Given the description of an element on the screen output the (x, y) to click on. 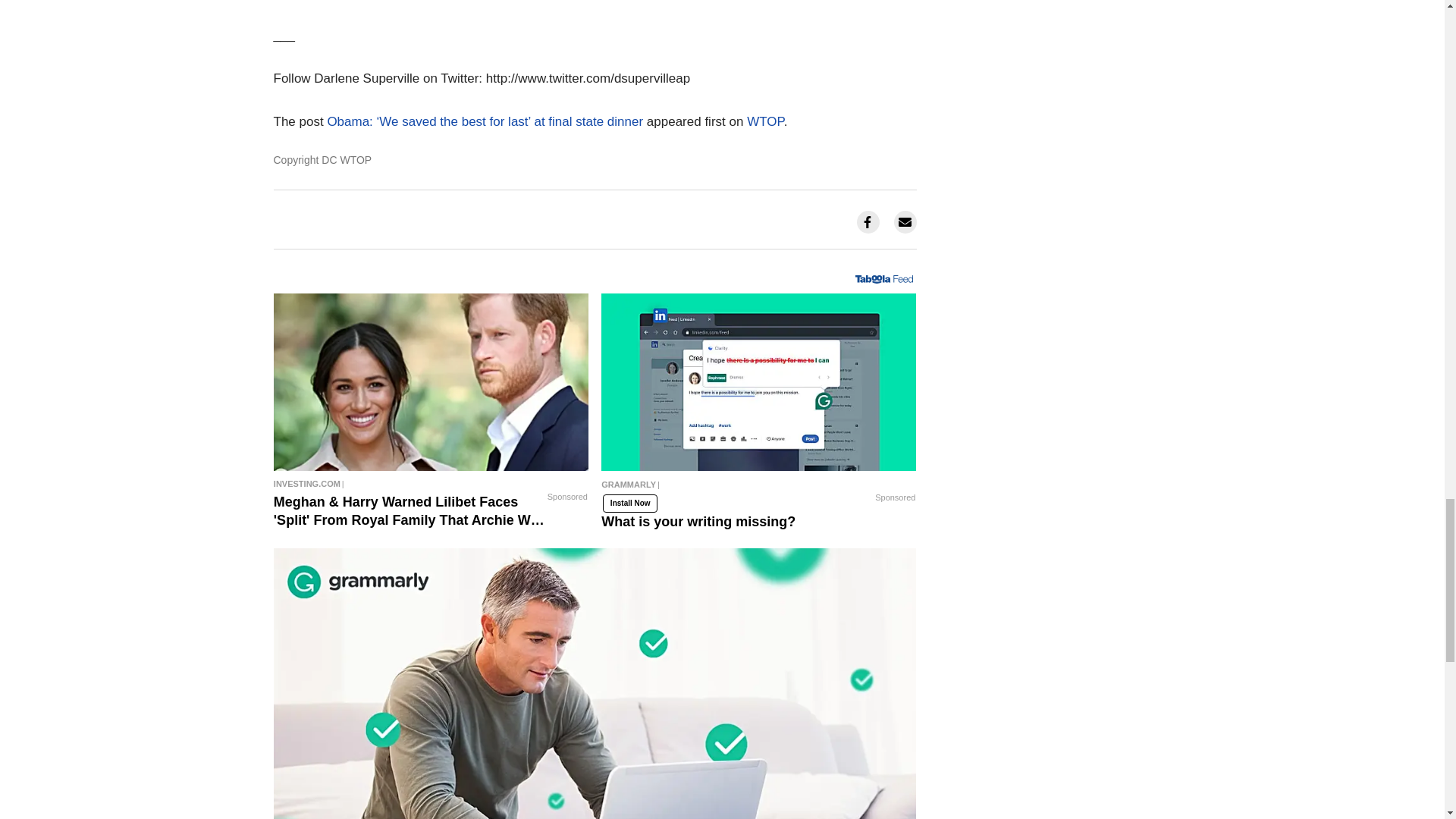
What is your writing missing? (758, 381)
Sponsored (567, 496)
What is your writing missing? (758, 488)
Sponsored (895, 498)
WTOP (765, 121)
